Given the description of an element on the screen output the (x, y) to click on. 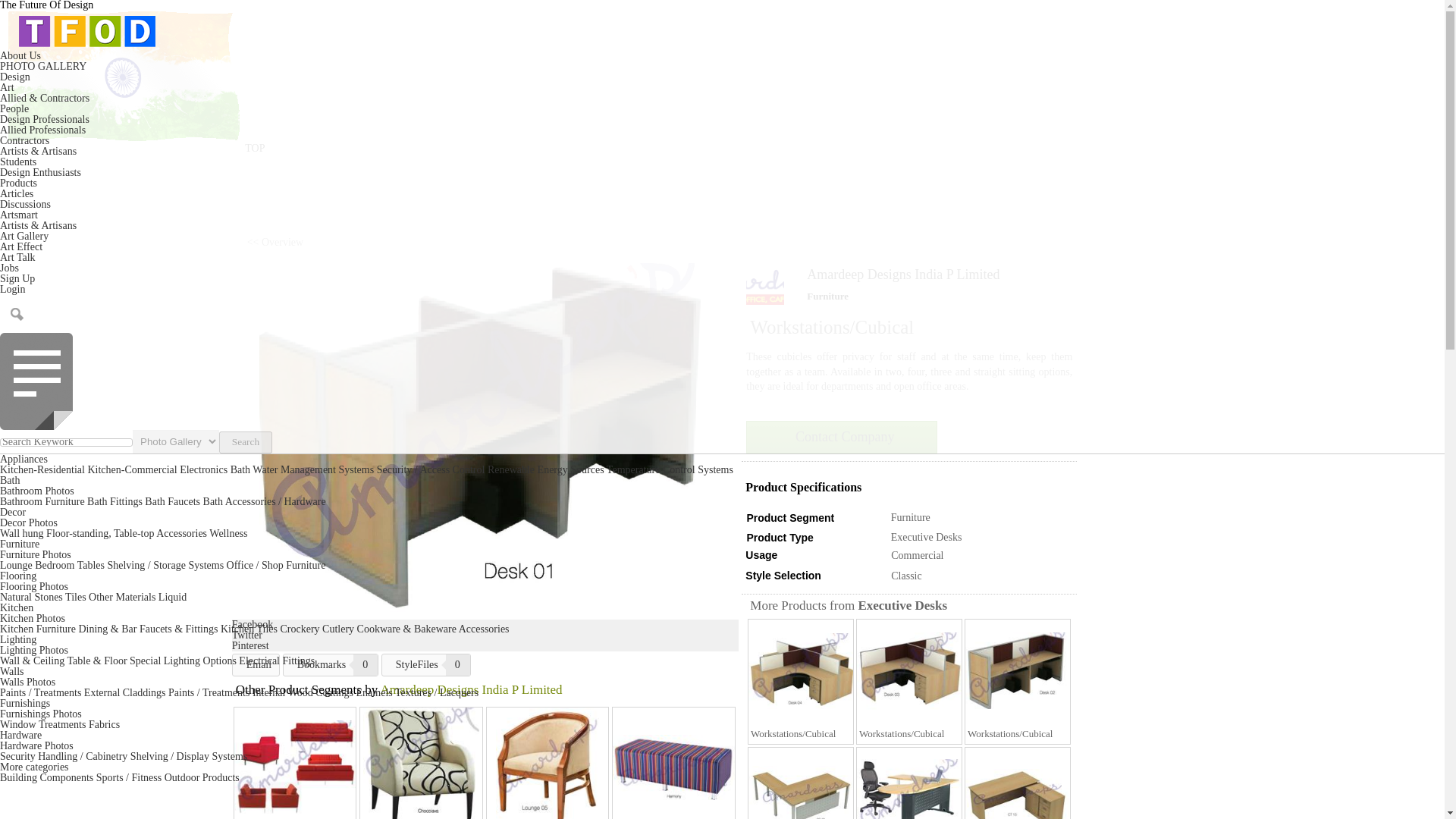
Design Enthusiasts (40, 172)
Art Gallery (24, 235)
The Art Collection (24, 235)
Artsmart (18, 214)
Affiliated with Design  (42, 129)
Articles on the world of arts and crafts (21, 246)
Features of interest to TFOD fraternity (16, 193)
Art Talk (17, 256)
Forums on issues needing design intervention (25, 204)
Shaping The Future of Design (18, 161)
Design Professionals (44, 119)
Discussions (25, 204)
Discussions on art and related issues  (17, 256)
Mad Over Design (40, 172)
Allied Professionals (42, 129)
